Given the description of an element on the screen output the (x, y) to click on. 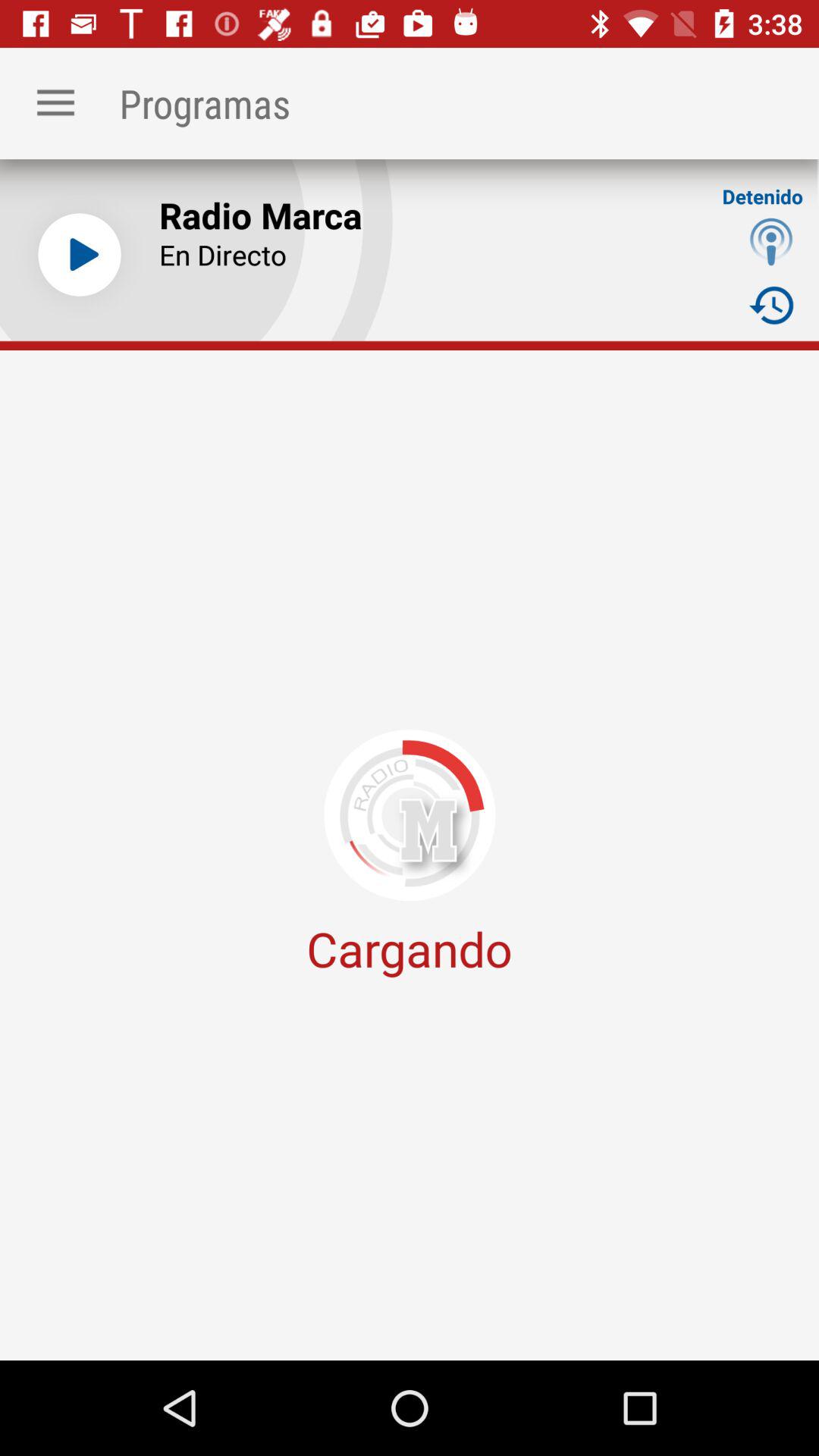
click to play (79, 254)
